Given the description of an element on the screen output the (x, y) to click on. 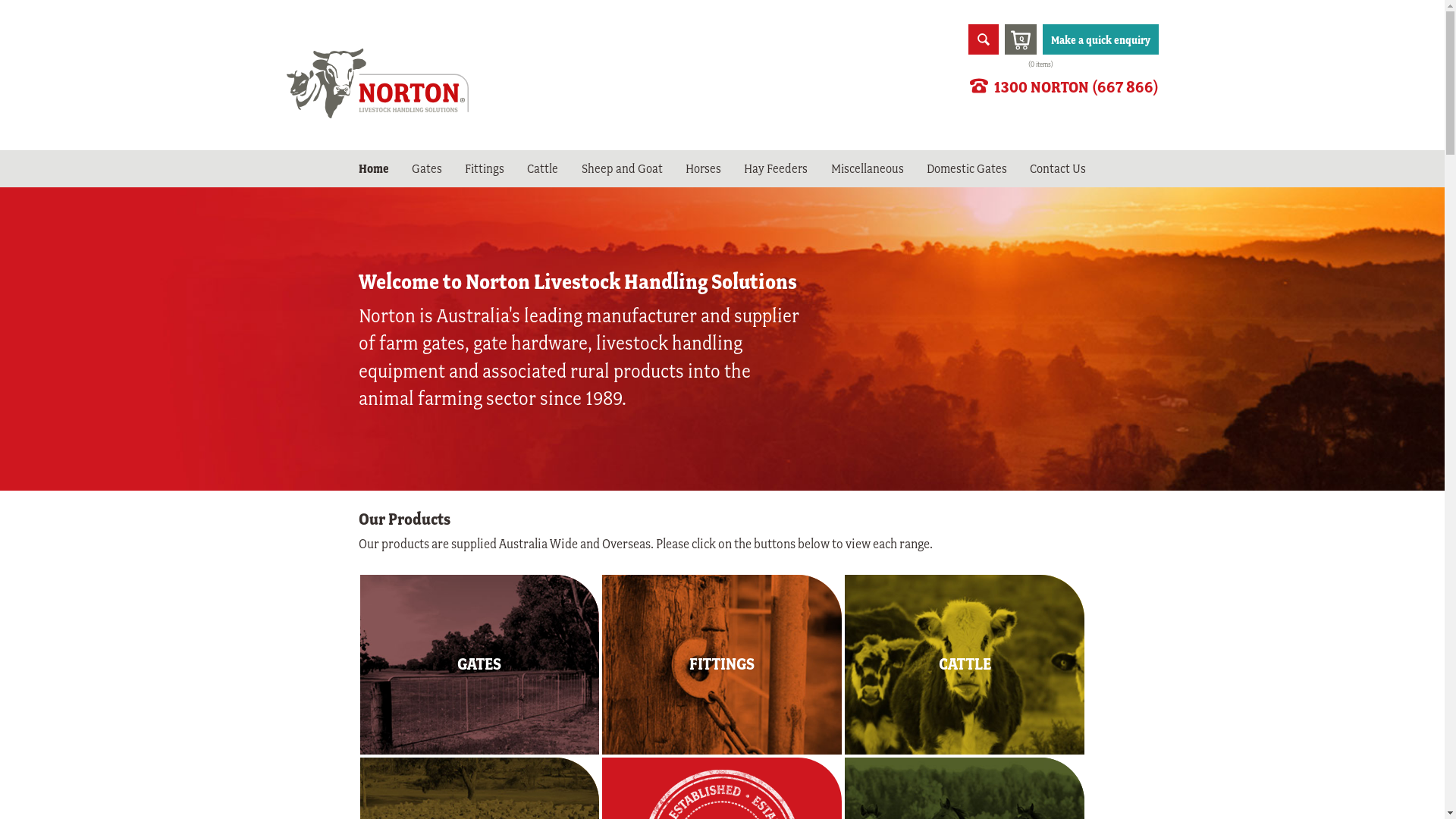
Cart
(0 items) Element type: text (1019, 39)
1300 NORTON (667 866) Element type: text (1063, 87)
CATTLE Element type: text (964, 663)
Domestic Gates Element type: text (966, 168)
FITTINGS Element type: text (721, 663)
Home Element type: text (372, 168)
Norton Livestock Handling Solutions Element type: text (377, 116)
Contact Us Element type: text (1057, 168)
Fittings Element type: text (484, 168)
Gates Element type: text (426, 168)
Hay Feeders Element type: text (775, 168)
Miscellaneous Element type: text (867, 168)
Horses Element type: text (703, 168)
GATES Element type: text (479, 663)
Make a quick enquiry Element type: text (1099, 39)
Cattle Element type: text (542, 168)
Sheep and Goat Element type: text (621, 168)
Search Element type: text (45, 19)
